Given the description of an element on the screen output the (x, y) to click on. 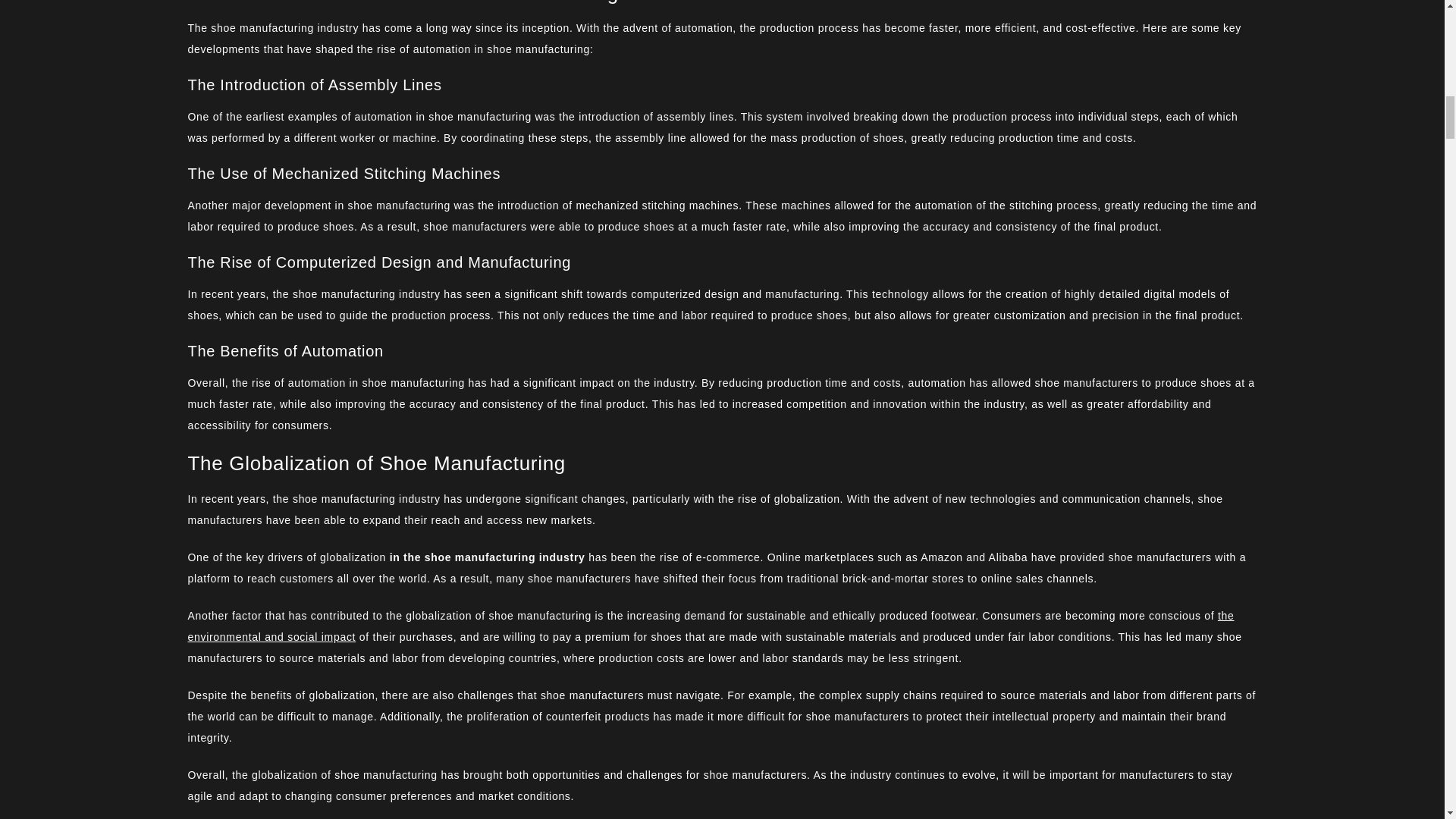
the environmental and social impact (710, 625)
